Given the description of an element on the screen output the (x, y) to click on. 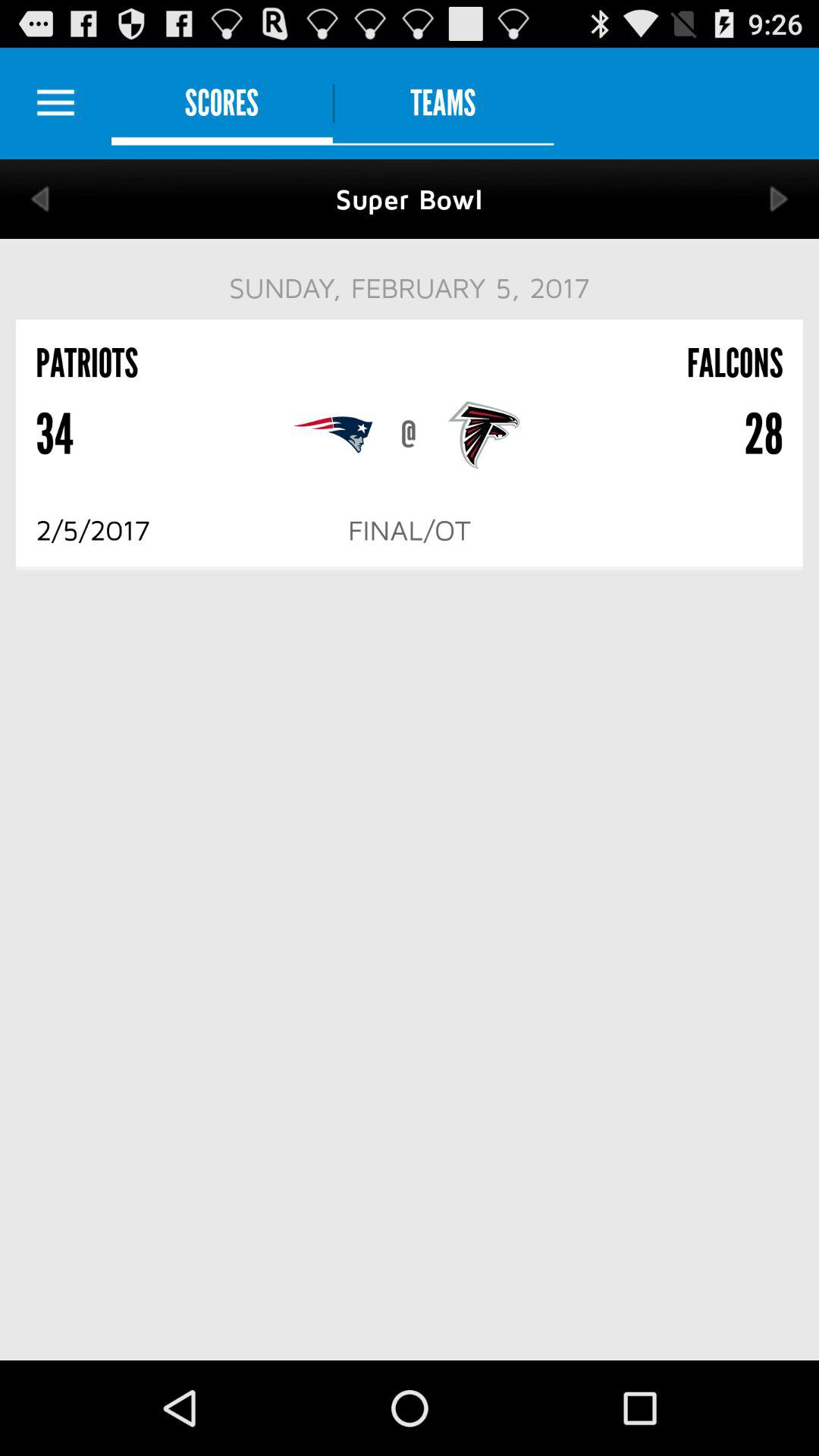
open menu (55, 103)
